Given the description of an element on the screen output the (x, y) to click on. 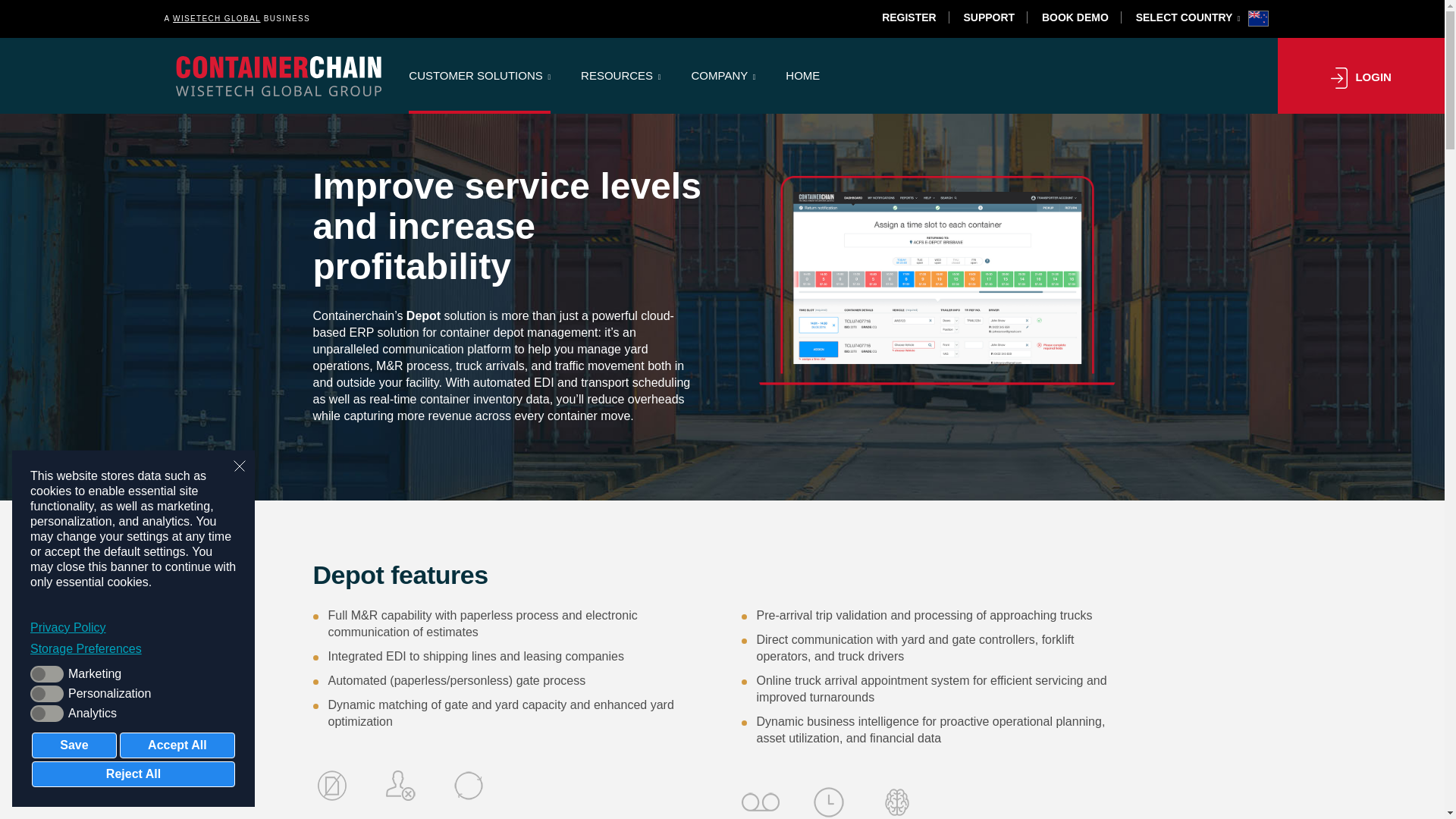
PARTNERS (432, 12)
Accept All (176, 745)
SUPPORT (467, 37)
CARGO OWNERS (610, 12)
ROAD TRANSPORTERS (464, 12)
WISETECH GLOBAL (216, 18)
SUPPORT (988, 17)
Privacy Policy (132, 627)
Save (74, 745)
RESOURCES (620, 75)
REGISTRATION (467, 12)
CUSTOMER SOLUTIONS (479, 75)
BOOK DEMO (1075, 17)
Containerchain (278, 75)
WAREHOUSES (464, 63)
